Given the description of an element on the screen output the (x, y) to click on. 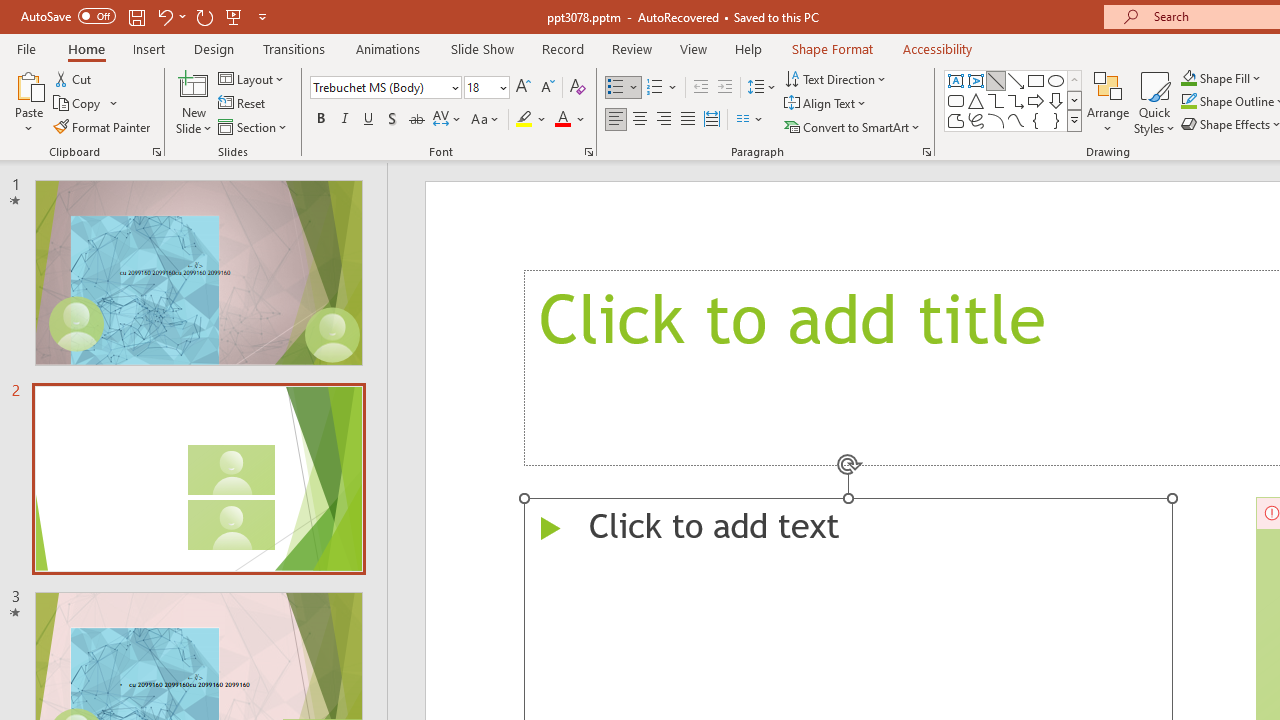
Arrange (1108, 102)
Connector: Elbow Arrow (1016, 100)
Cut (73, 78)
Left Brace (1035, 120)
Line Arrow (1016, 80)
Center (639, 119)
Shape Outline Green, Accent 1 (1188, 101)
